Given the description of an element on the screen output the (x, y) to click on. 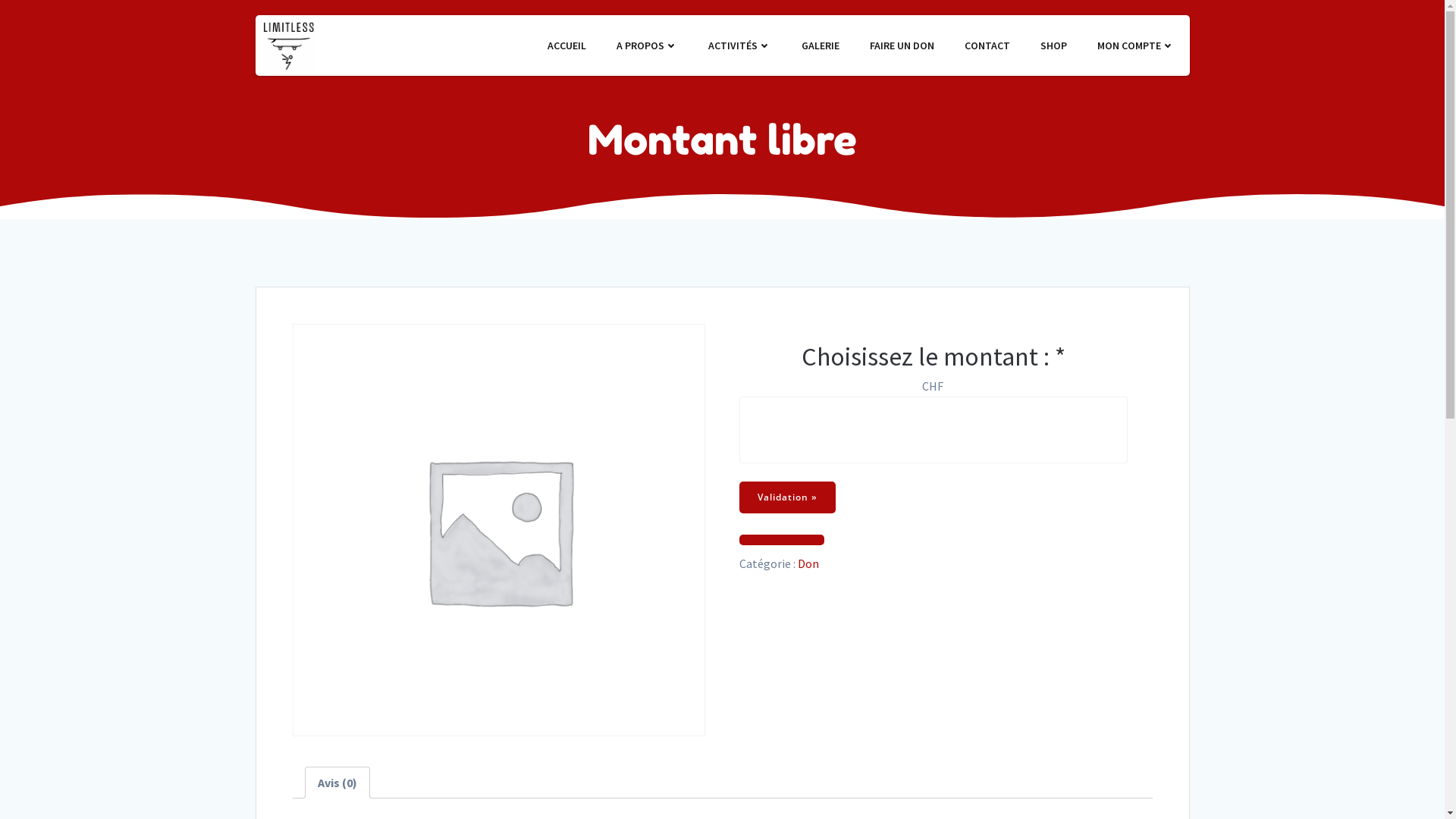
SHOP Element type: text (1053, 45)
31445 Element type: text (42, 539)
MON COMPTE Element type: text (1134, 45)
ACCUEIL Element type: text (566, 45)
FAIRE UN DON Element type: text (901, 45)
CONTACT Element type: text (987, 45)
GALERIE Element type: text (819, 45)
A PROPOS Element type: text (646, 45)
Don Element type: text (808, 563)
Avis (0) Element type: text (336, 782)
